Given the description of an element on the screen output the (x, y) to click on. 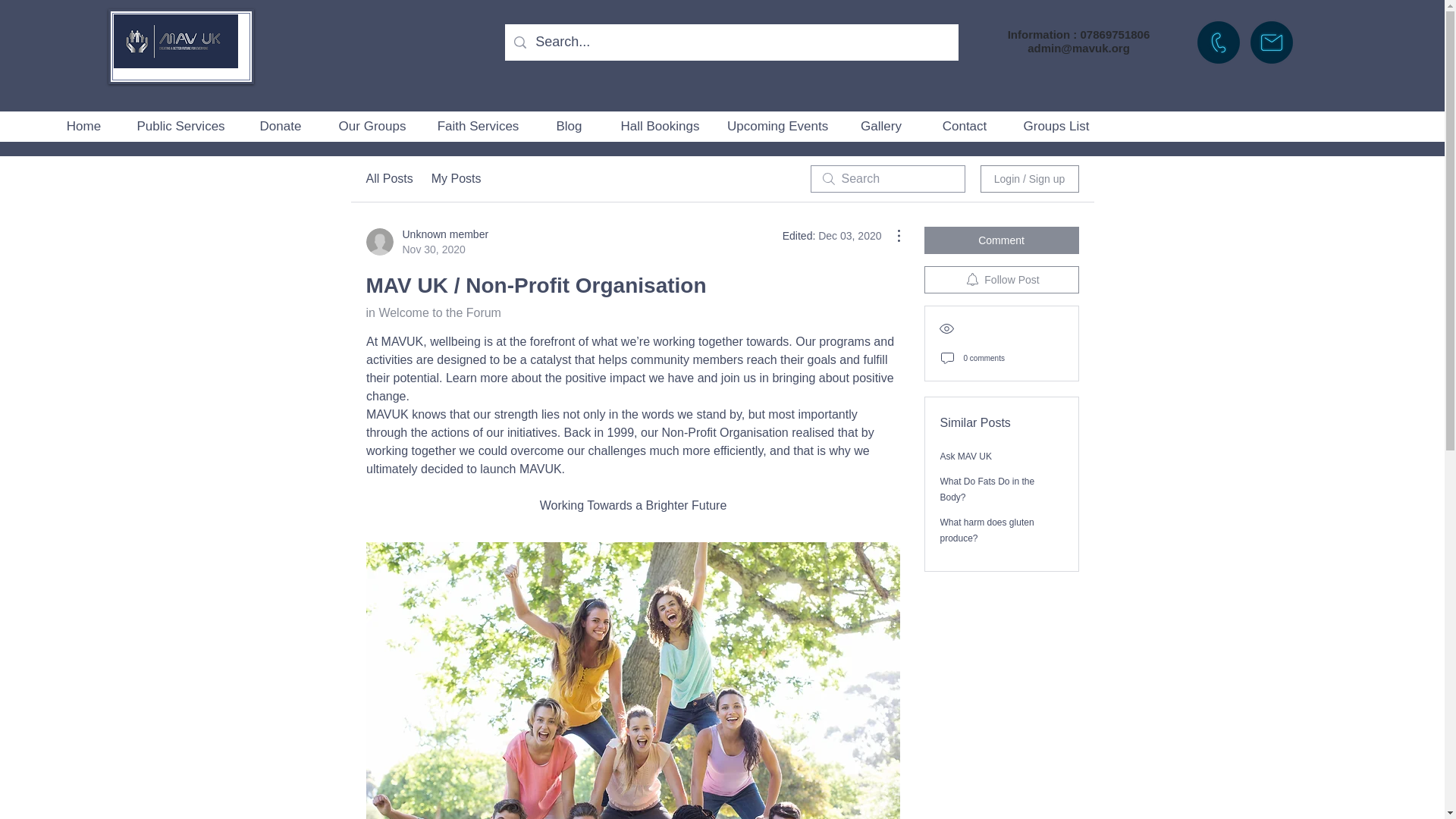
Follow Post (1000, 279)
Faith Services (477, 126)
Comment (1000, 239)
Public Services (180, 126)
Donate (279, 126)
in Welcome to the Forum (432, 312)
Gallery (880, 126)
All Posts (388, 178)
What harm does gluten produce? (986, 529)
What Do Fats Do in the Body? (987, 488)
Contact (963, 126)
My Posts (455, 178)
Groups List (1055, 126)
Blog (568, 126)
Ask MAV UK (965, 456)
